Given the description of an element on the screen output the (x, y) to click on. 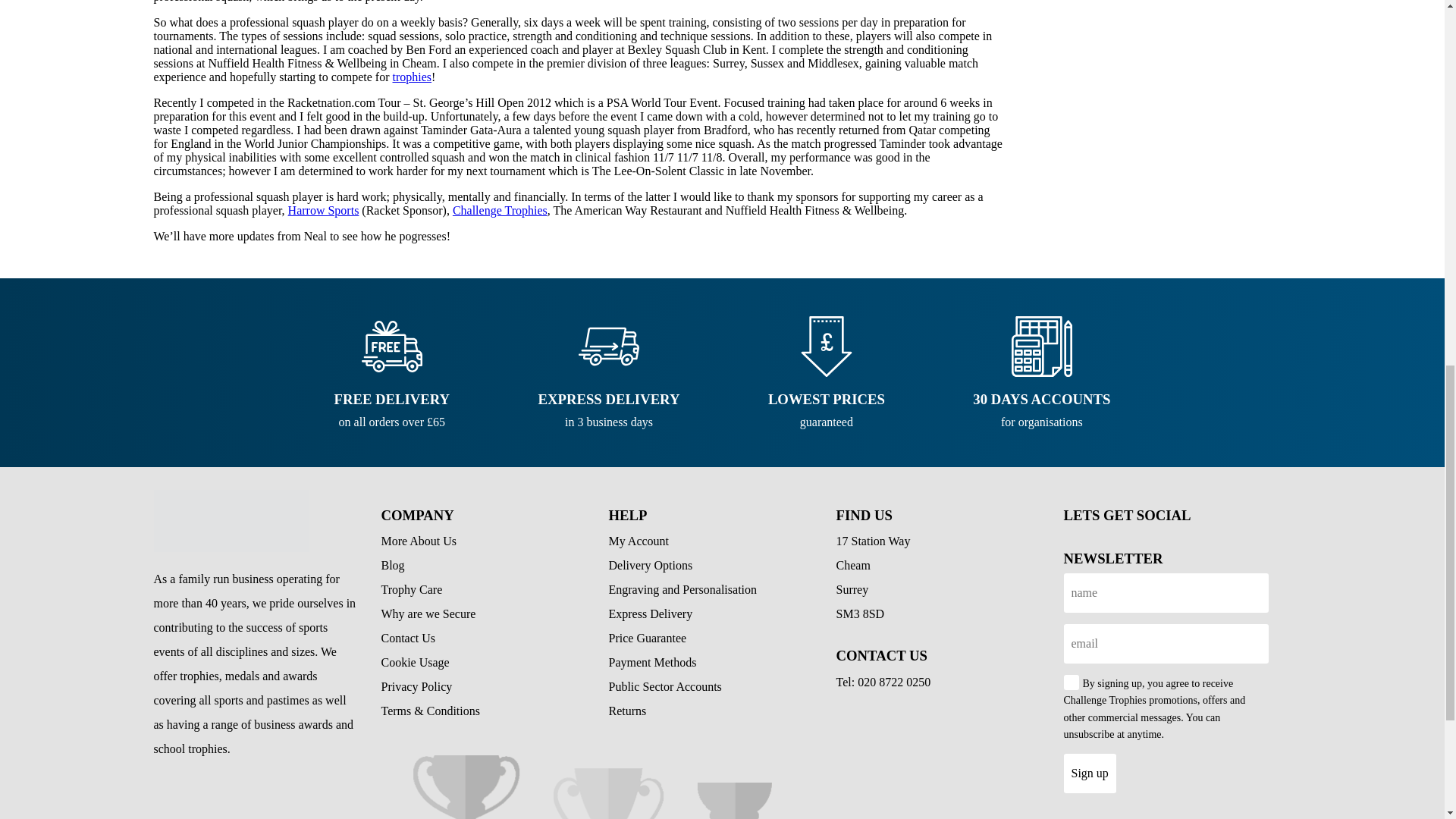
trophies (412, 76)
Harrow Sports (323, 210)
Harrow Sports (323, 210)
Sign up (1088, 773)
Challenge Trophies (499, 210)
Squash Trophies (412, 76)
Neal Brooker's Story So Far (230, 520)
Challenge Trophies (499, 210)
